Given the description of an element on the screen output the (x, y) to click on. 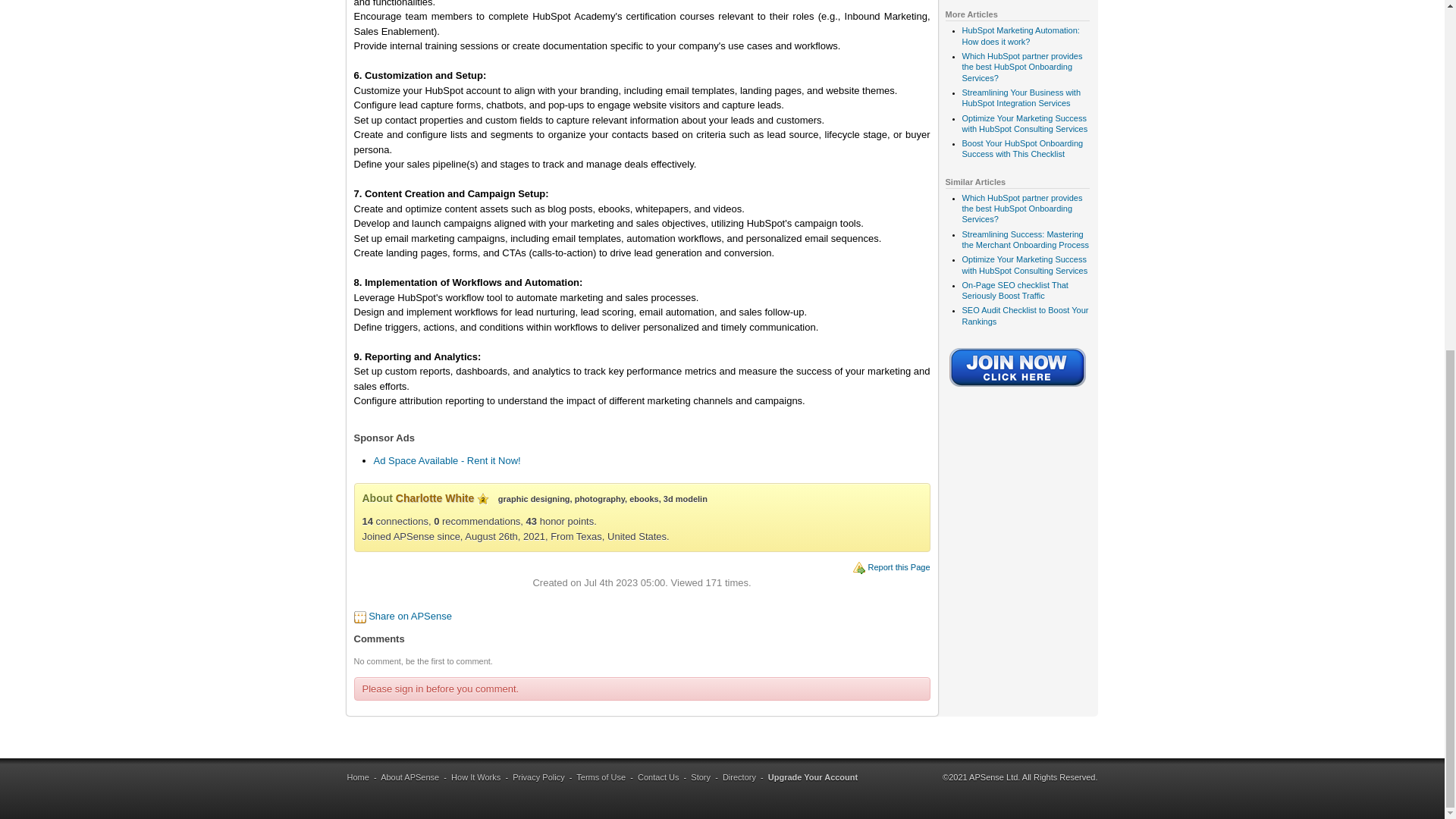
HubSpot Marketing Automation: How does it work? (1019, 35)
On-Page SEO checklist That Seriously Boost Traffic (1013, 290)
Report this Page (898, 566)
Freshman (483, 499)
Share on APSense (409, 615)
Ad Space Available - Rent it Now! (445, 460)
Boost Your HubSpot Onboarding Success with This Checklist (1021, 148)
SEO Audit Checklist to Boost Your Rankings (1023, 315)
Charlotte White (435, 498)
Streamlining Your Business with HubSpot Integration Services (1020, 97)
